Given the description of an element on the screen output the (x, y) to click on. 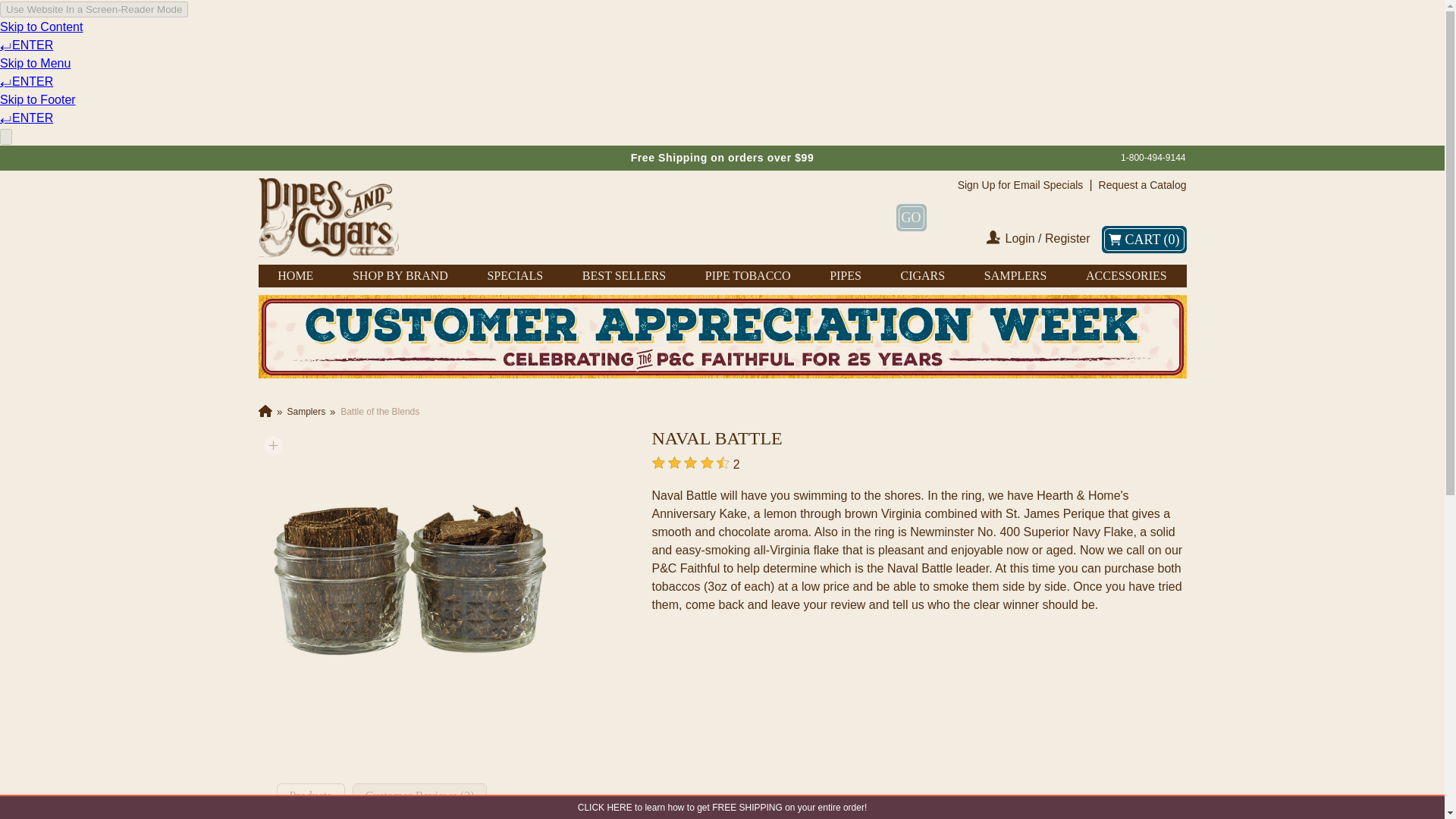
Request a Catalog (1142, 184)
HOME (295, 275)
Sign Up for Email Specials (1020, 184)
GO (911, 216)
SPECIALS (514, 275)
1-800-494-9144 (1153, 157)
SHOP BY BRAND (400, 275)
